Given the description of an element on the screen output the (x, y) to click on. 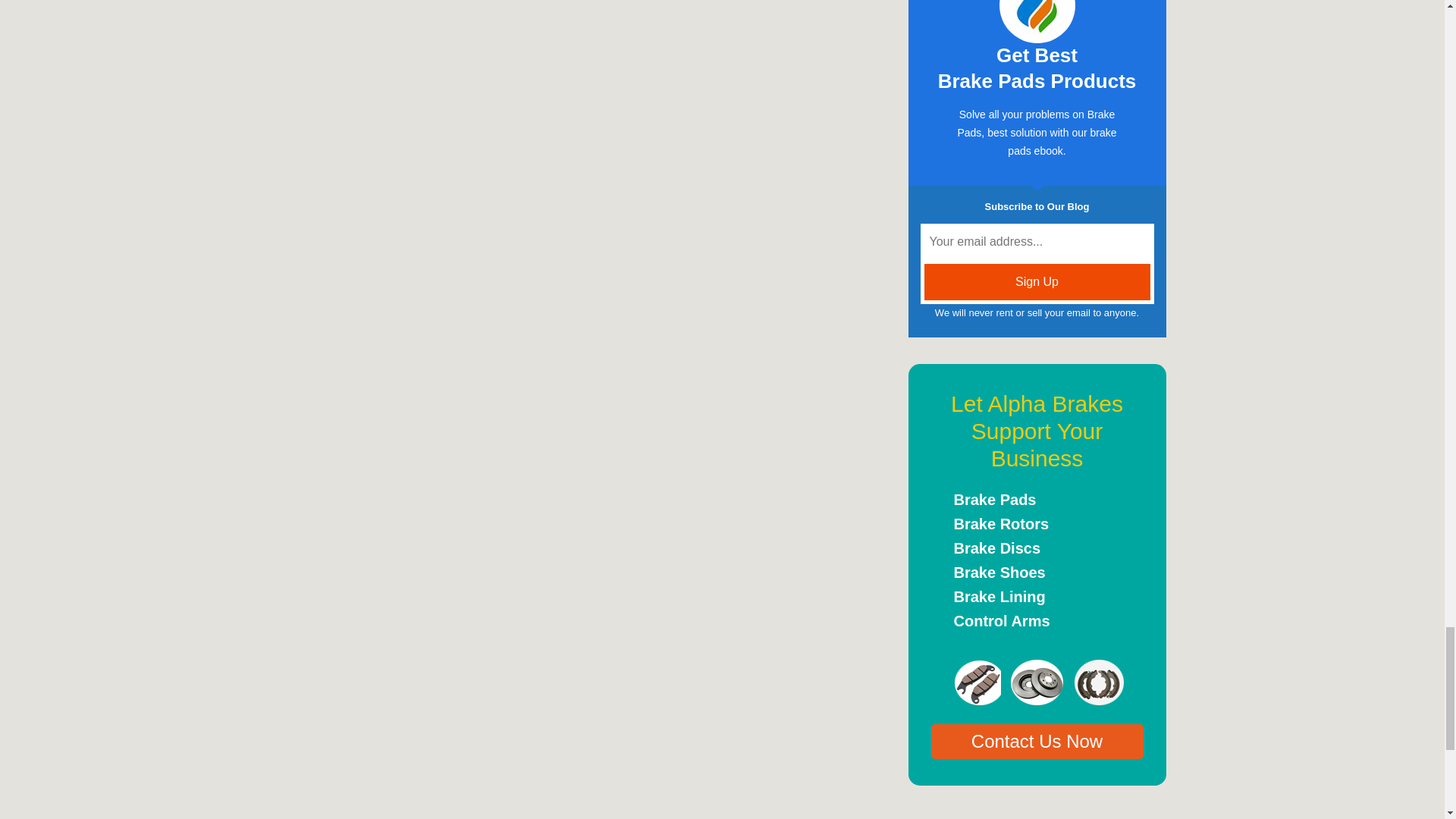
Sign Up (1037, 281)
